Given the description of an element on the screen output the (x, y) to click on. 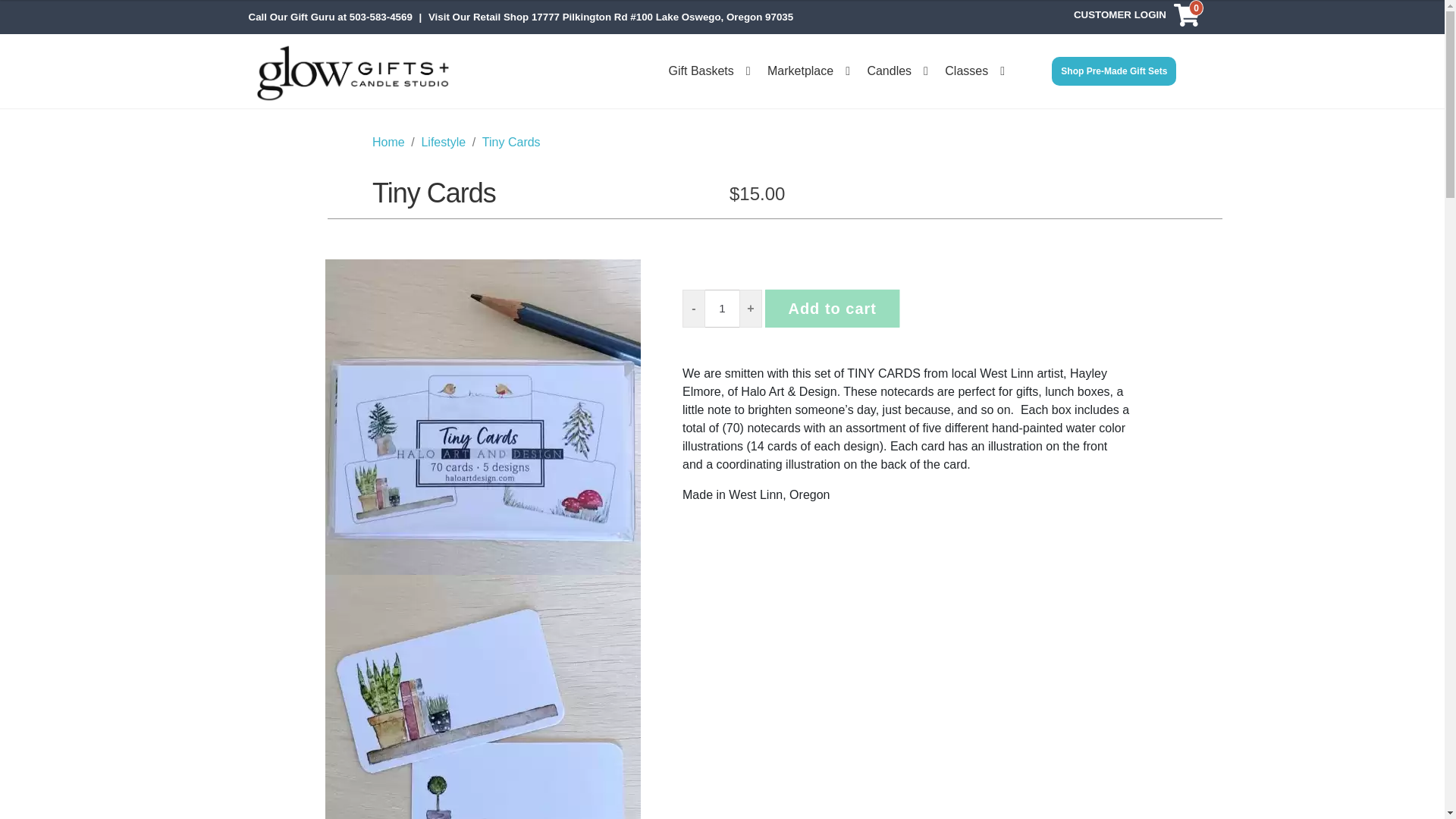
Candles (897, 70)
1 (721, 308)
CUSTOMER LOGIN (1119, 17)
Classes (974, 70)
Qty (721, 308)
View your shopping cart (1186, 17)
Marketplace (808, 70)
Gift Baskets (708, 70)
0 (1186, 17)
